Given the description of an element on the screen output the (x, y) to click on. 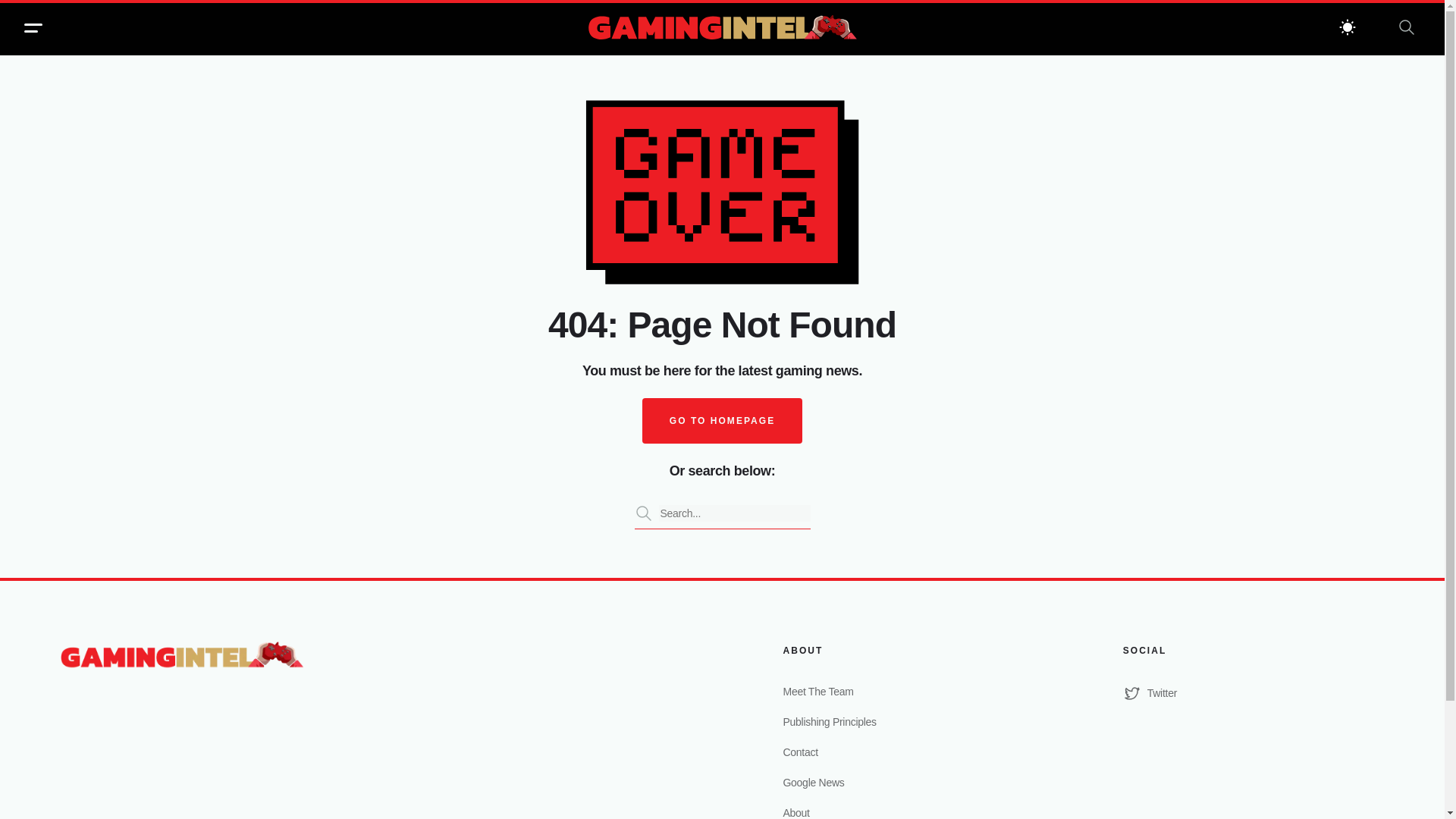
Publishing Principles (913, 721)
Gaming Intel (722, 28)
About (913, 812)
Google News (913, 782)
Meet The Team (913, 691)
GO TO HOMEPAGE (722, 420)
Twitter (1253, 692)
Contact (913, 752)
